Given the description of an element on the screen output the (x, y) to click on. 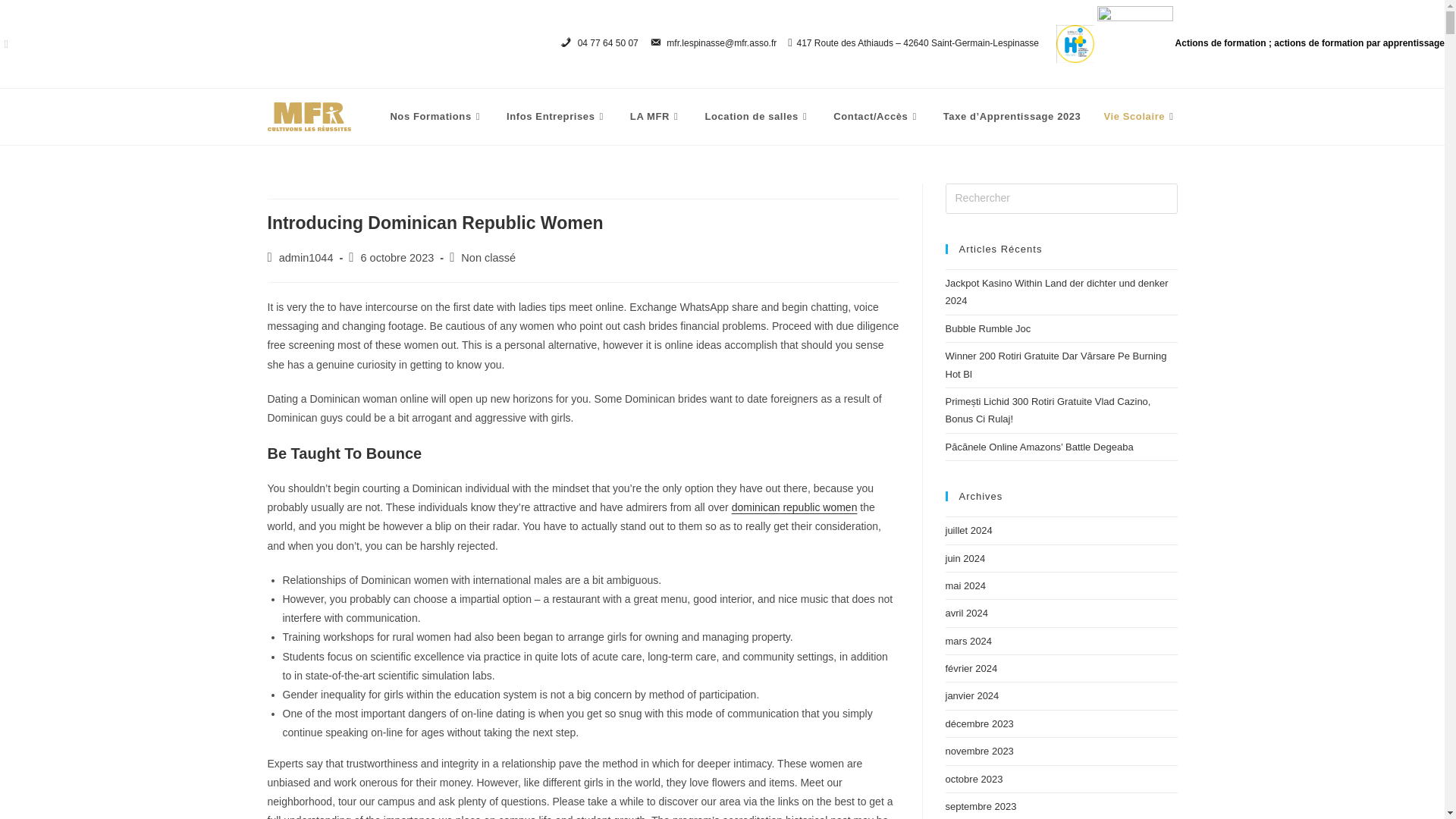
Nos Formations (436, 116)
Infos Entreprises (556, 116)
04 77 64 50 07 (599, 44)
LA MFR (656, 116)
Articles par admin1044 (306, 257)
Location de salles (757, 116)
